Given the description of an element on the screen output the (x, y) to click on. 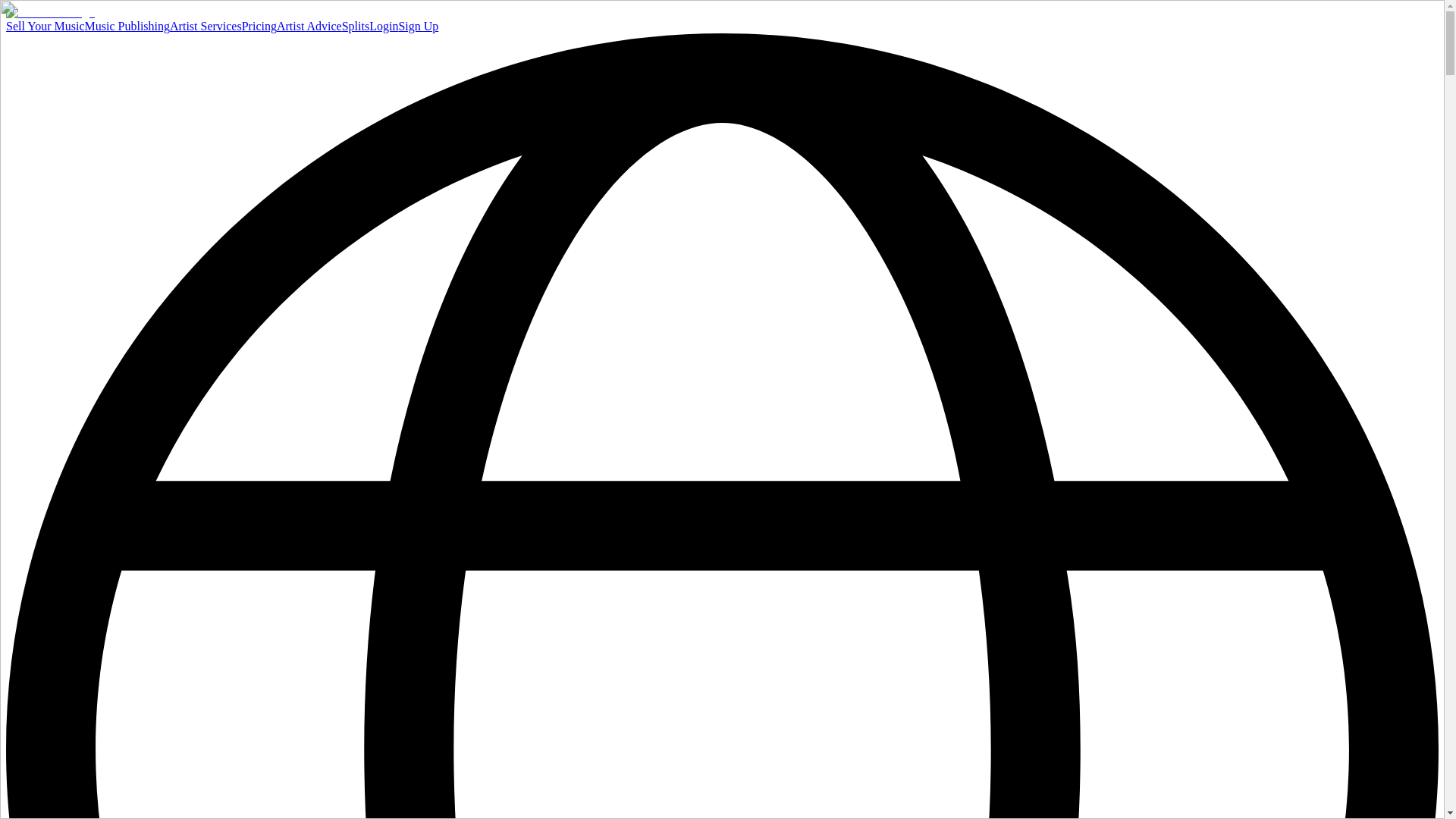
Artist Services (205, 25)
Sell Your Music (44, 25)
Login (383, 25)
Splits (355, 25)
Music Publishing (127, 25)
Sign Up (417, 25)
Artist Advice (309, 25)
Pricing (258, 25)
